Given the description of an element on the screen output the (x, y) to click on. 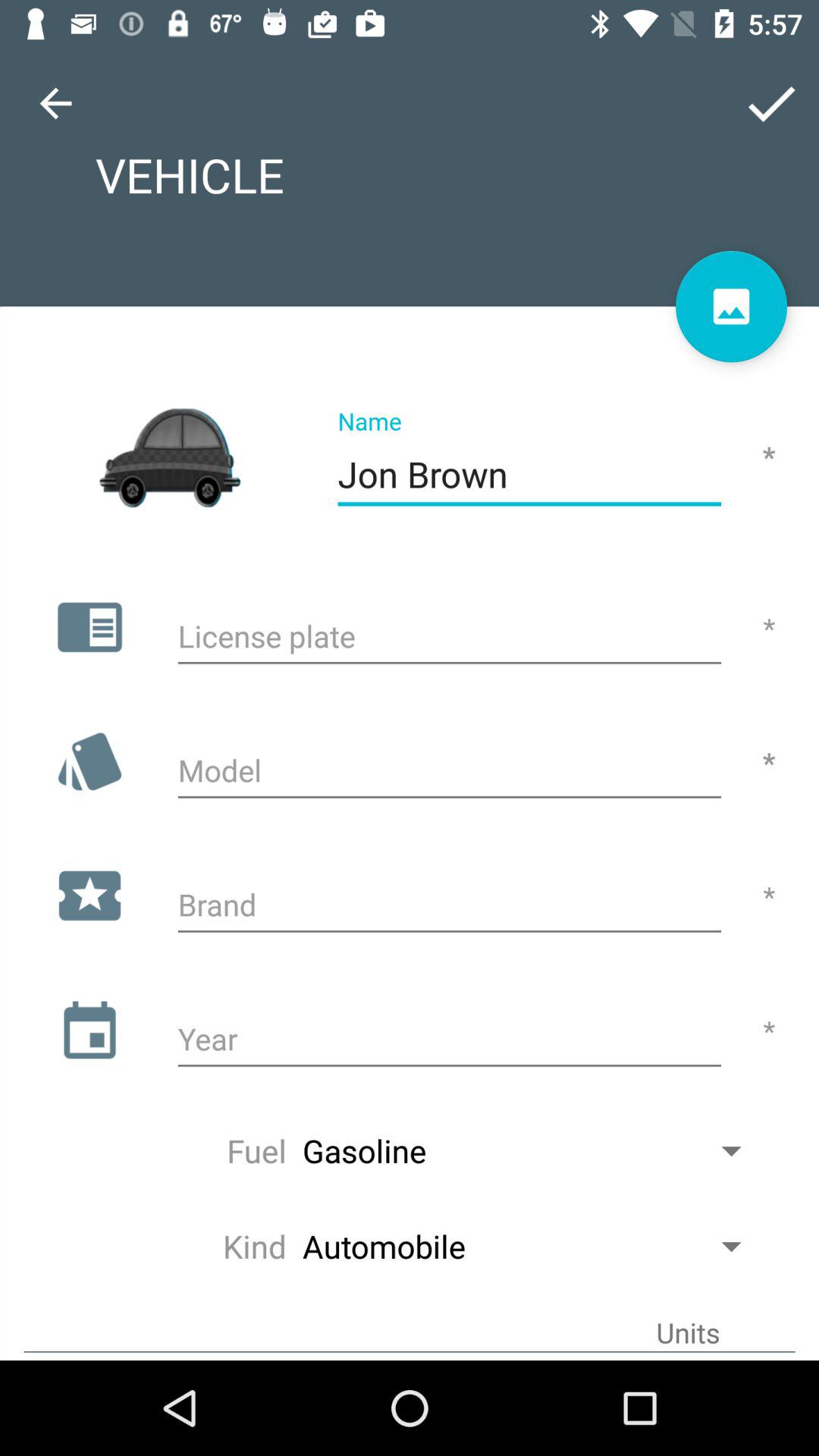
select brand (449, 907)
